Given the description of an element on the screen output the (x, y) to click on. 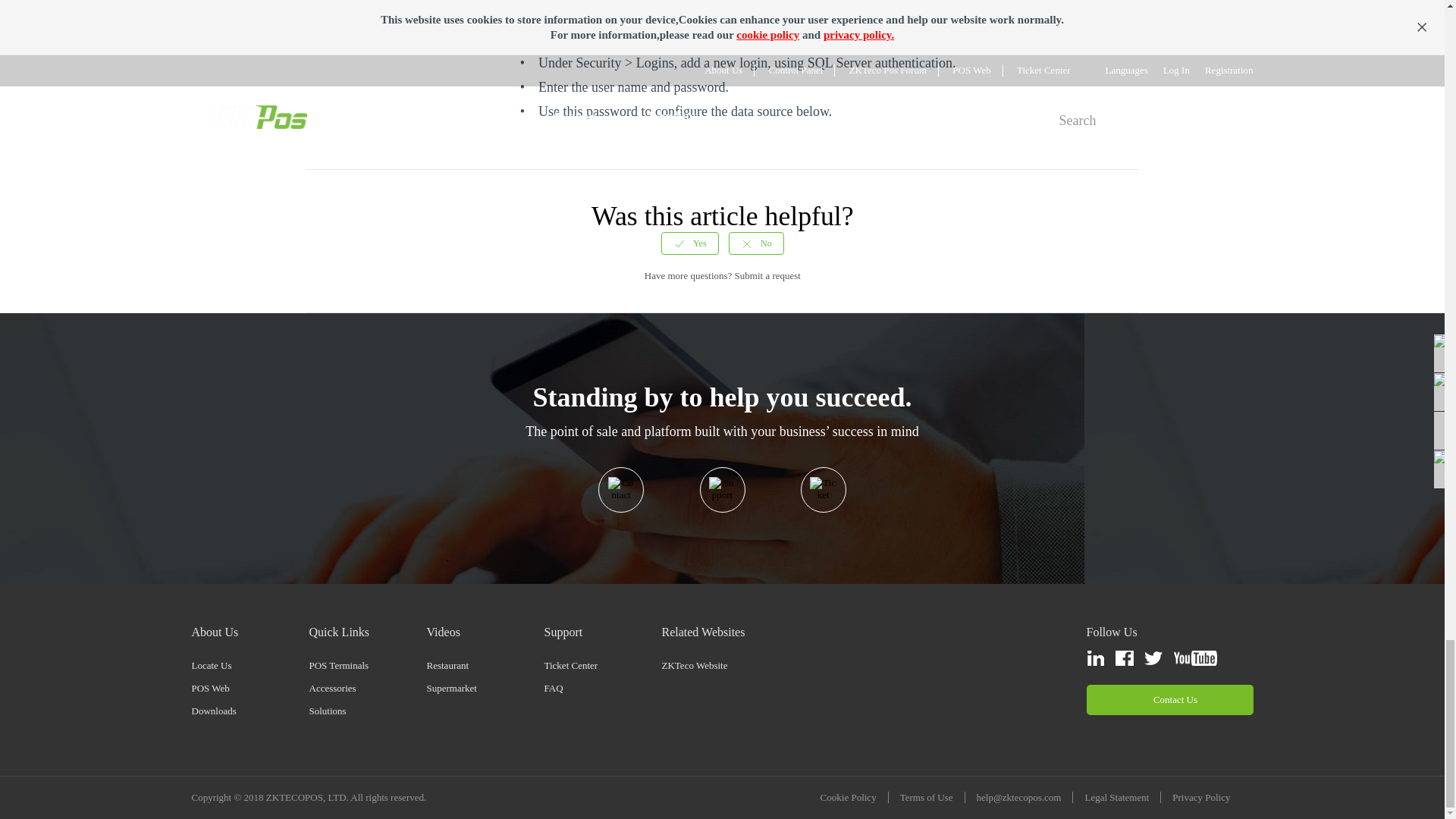
facebook (1123, 657)
linkedin (1094, 657)
youtube (1194, 657)
twitter (1151, 657)
